Given the description of an element on the screen output the (x, y) to click on. 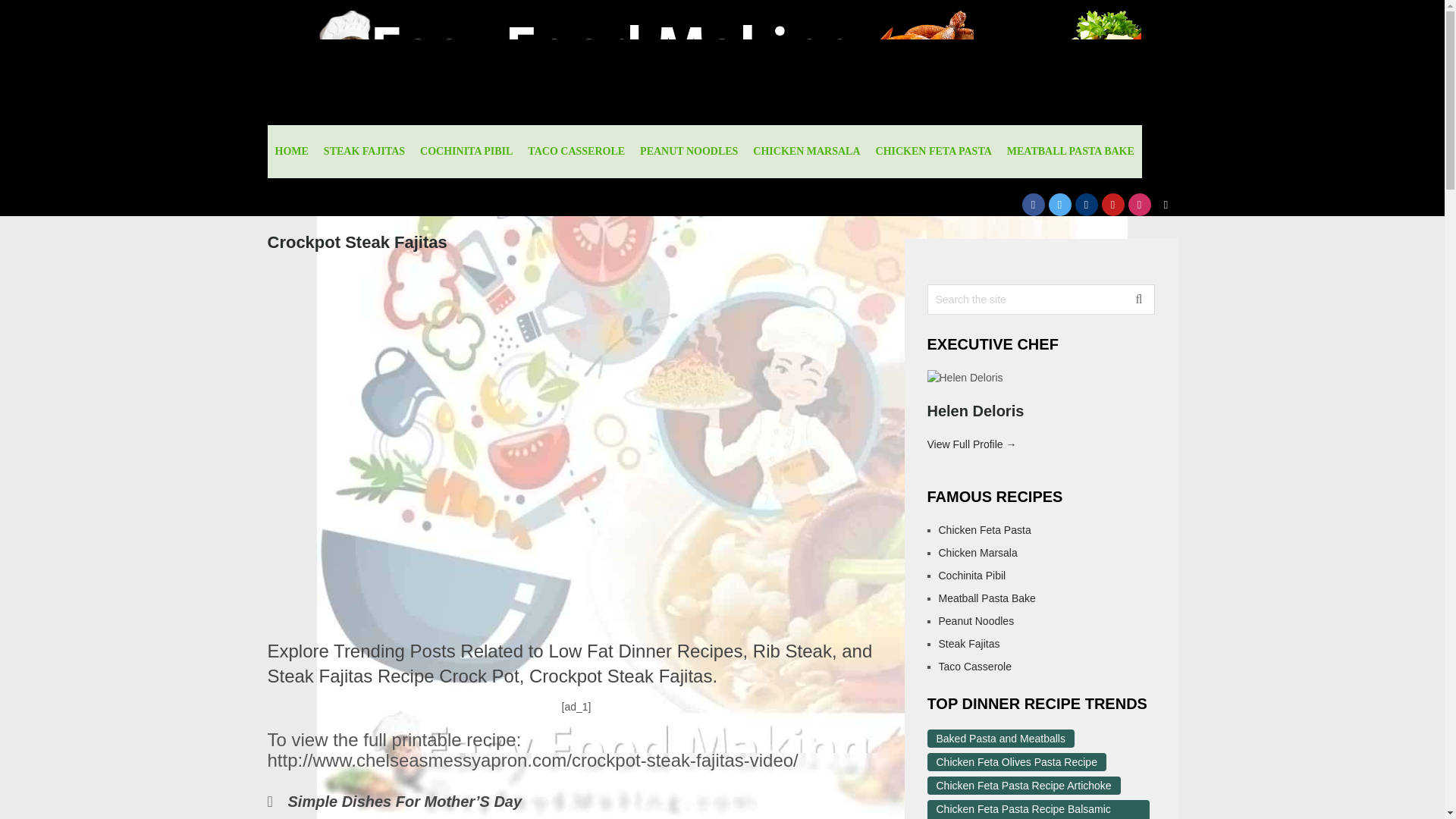
TACO CASSEROLE (575, 151)
STEAK FAJITAS (363, 151)
MEATBALL PASTA BAKE (1069, 151)
CHICKEN FETA PASTA (932, 151)
PEANUT NOODLES (688, 151)
COCHINITA PIBIL (465, 151)
HOME (290, 151)
CHICKEN MARSALA (806, 151)
